Given the description of an element on the screen output the (x, y) to click on. 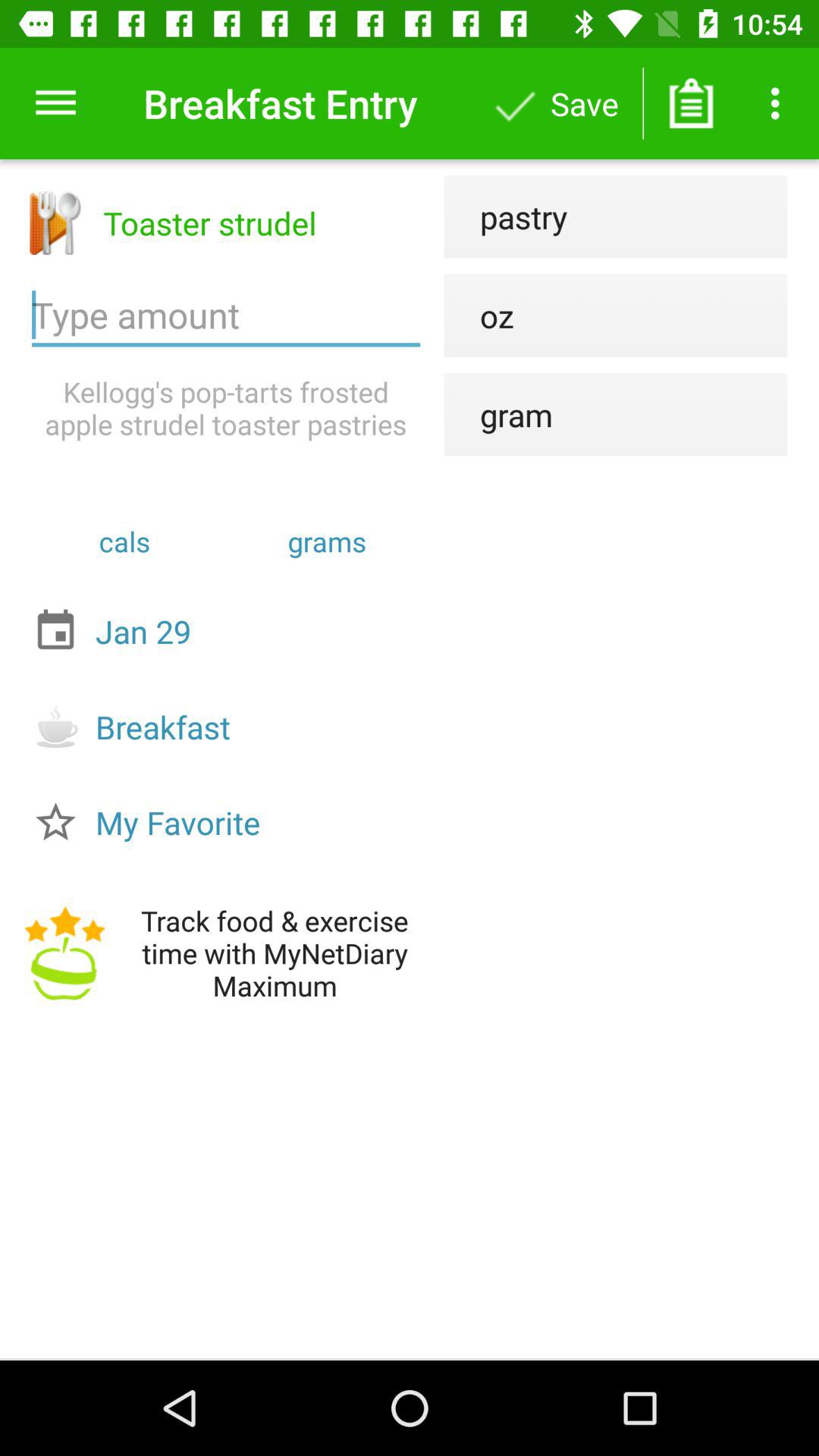
turn off the   oz icon (479, 315)
